Given the description of an element on the screen output the (x, y) to click on. 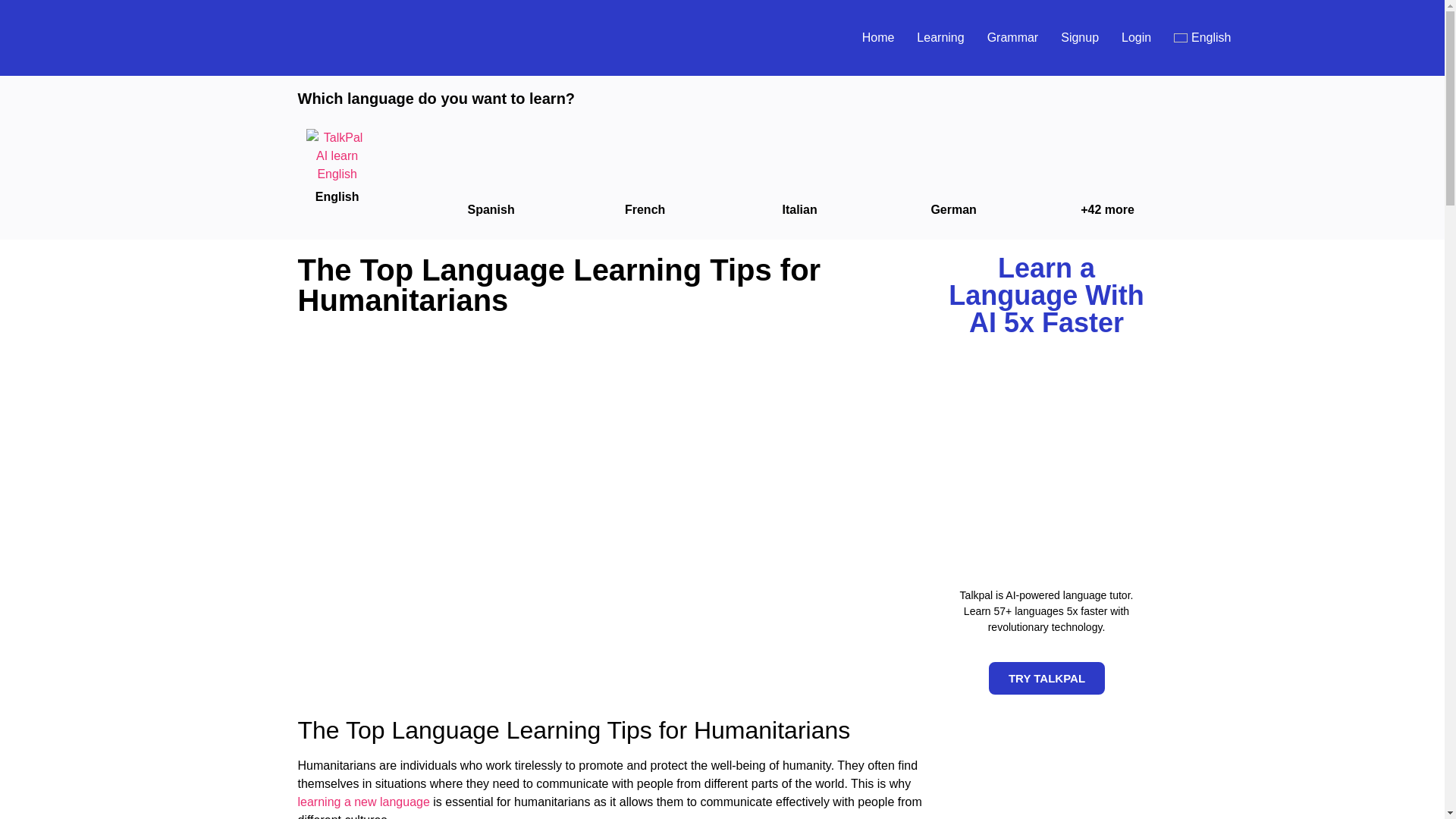
German (952, 209)
Italian (798, 209)
English (1201, 37)
English (336, 196)
Grammar (1013, 37)
Learning (940, 37)
Home (878, 37)
English (1201, 37)
Spanish (490, 209)
Login (1136, 37)
